Given the description of an element on the screen output the (x, y) to click on. 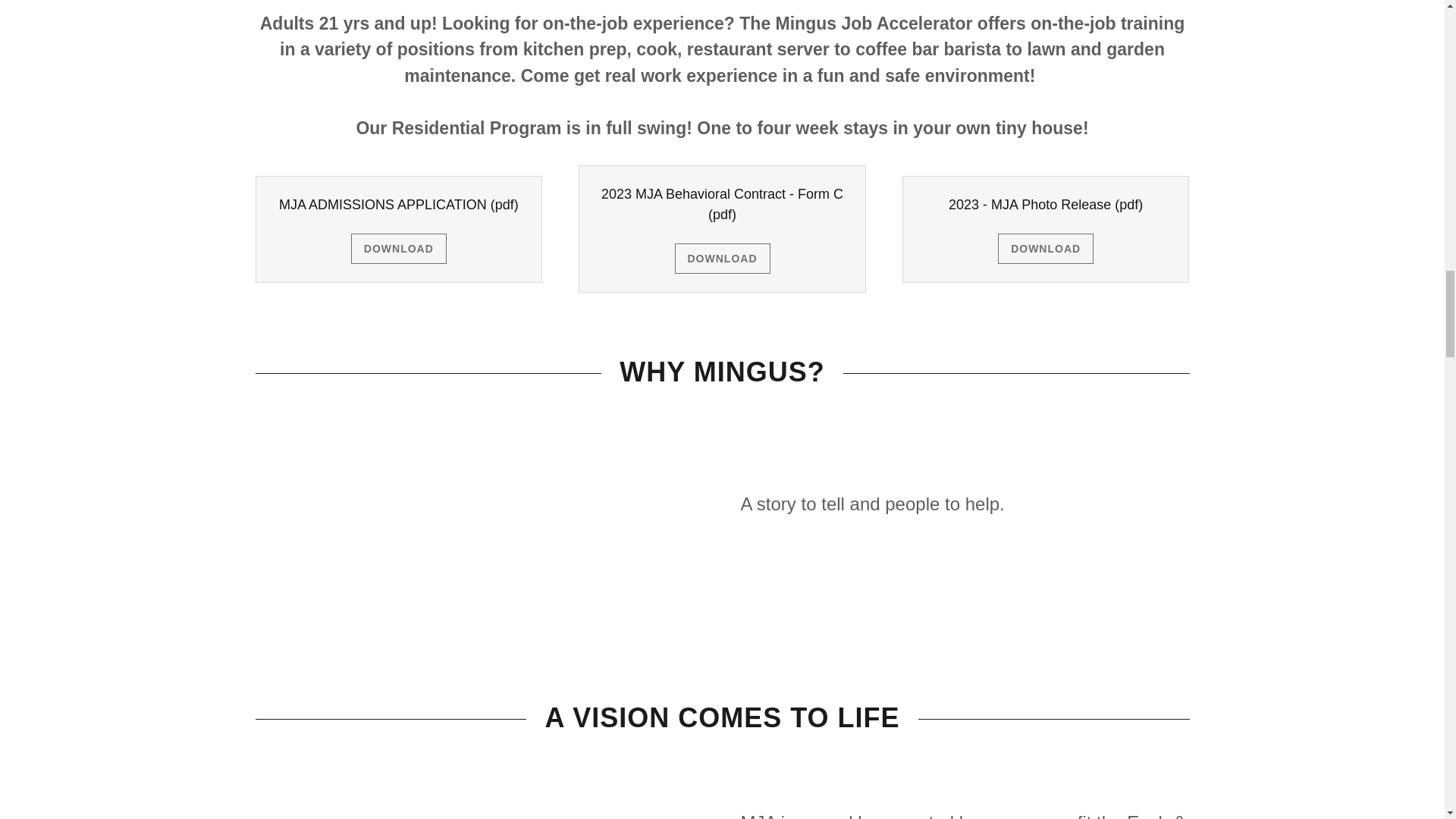
DOWNLOAD (722, 258)
DOWNLOAD (398, 248)
DOWNLOAD (1045, 248)
